Given the description of an element on the screen output the (x, y) to click on. 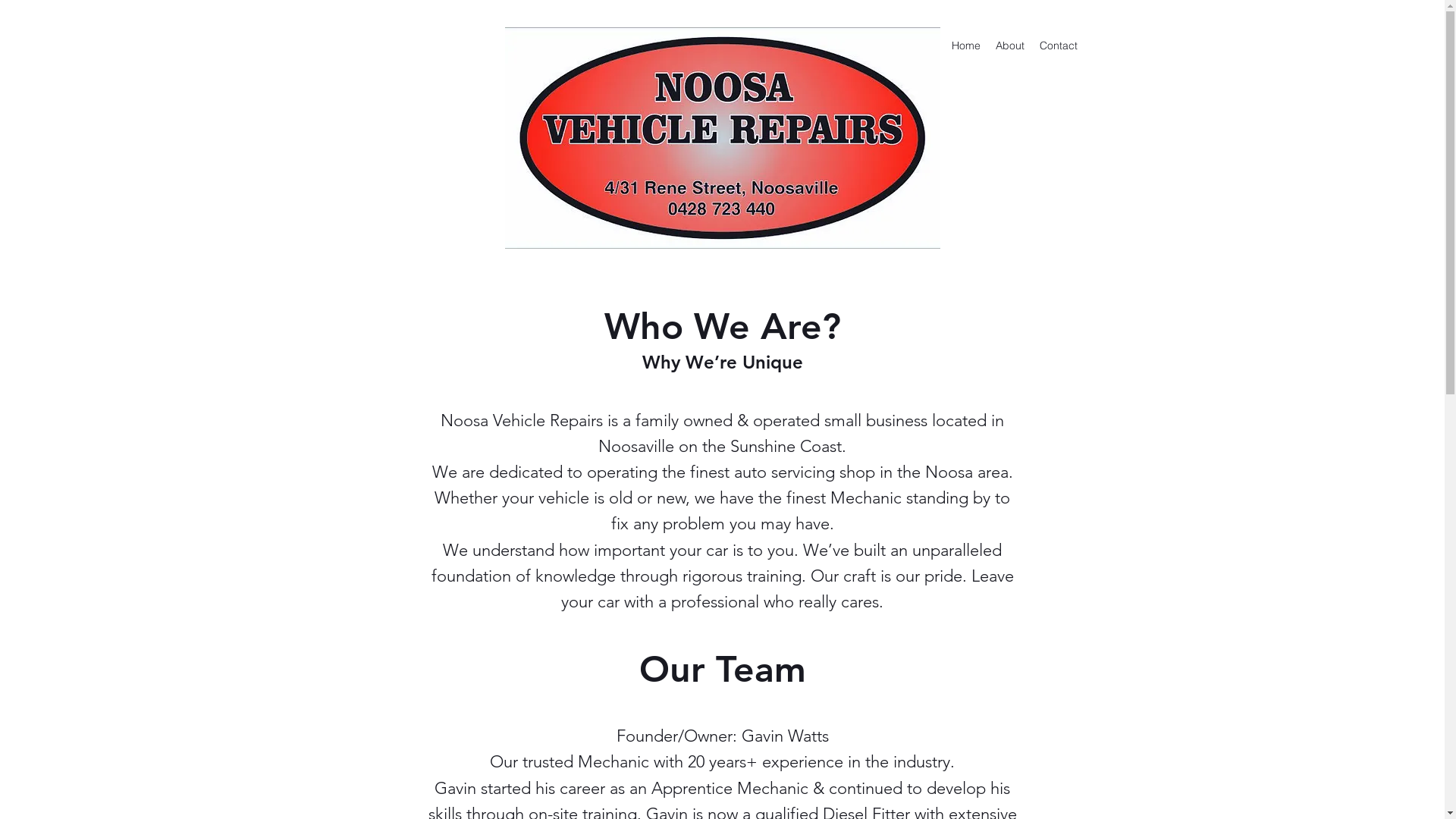
Home Element type: text (965, 45)
Contact Element type: text (1057, 45)
About Element type: text (1009, 45)
